Given the description of an element on the screen output the (x, y) to click on. 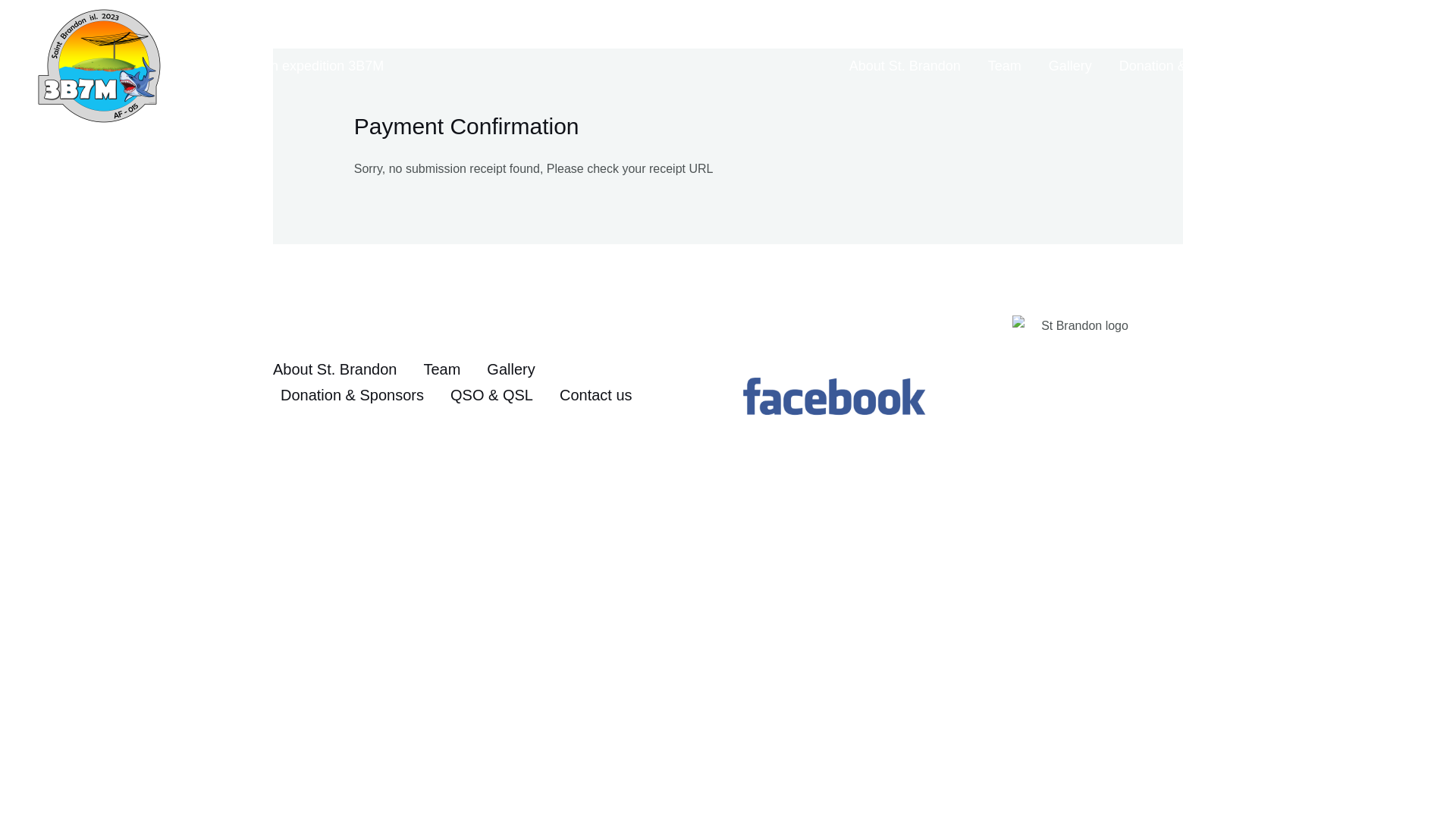
QSO & QSL Element type: text (1312, 65)
Donation & Sponsors Element type: text (357, 394)
Donation & Sponsors Element type: text (1183, 65)
About St. Brandon Element type: text (344, 369)
QSO & QSL Element type: text (497, 394)
Contact us Element type: text (601, 394)
Team Element type: text (447, 369)
Gallery Element type: text (1070, 65)
Gallery Element type: text (516, 369)
About St. Brandon Element type: text (904, 65)
Team Element type: text (1004, 65)
